Given the description of an element on the screen output the (x, y) to click on. 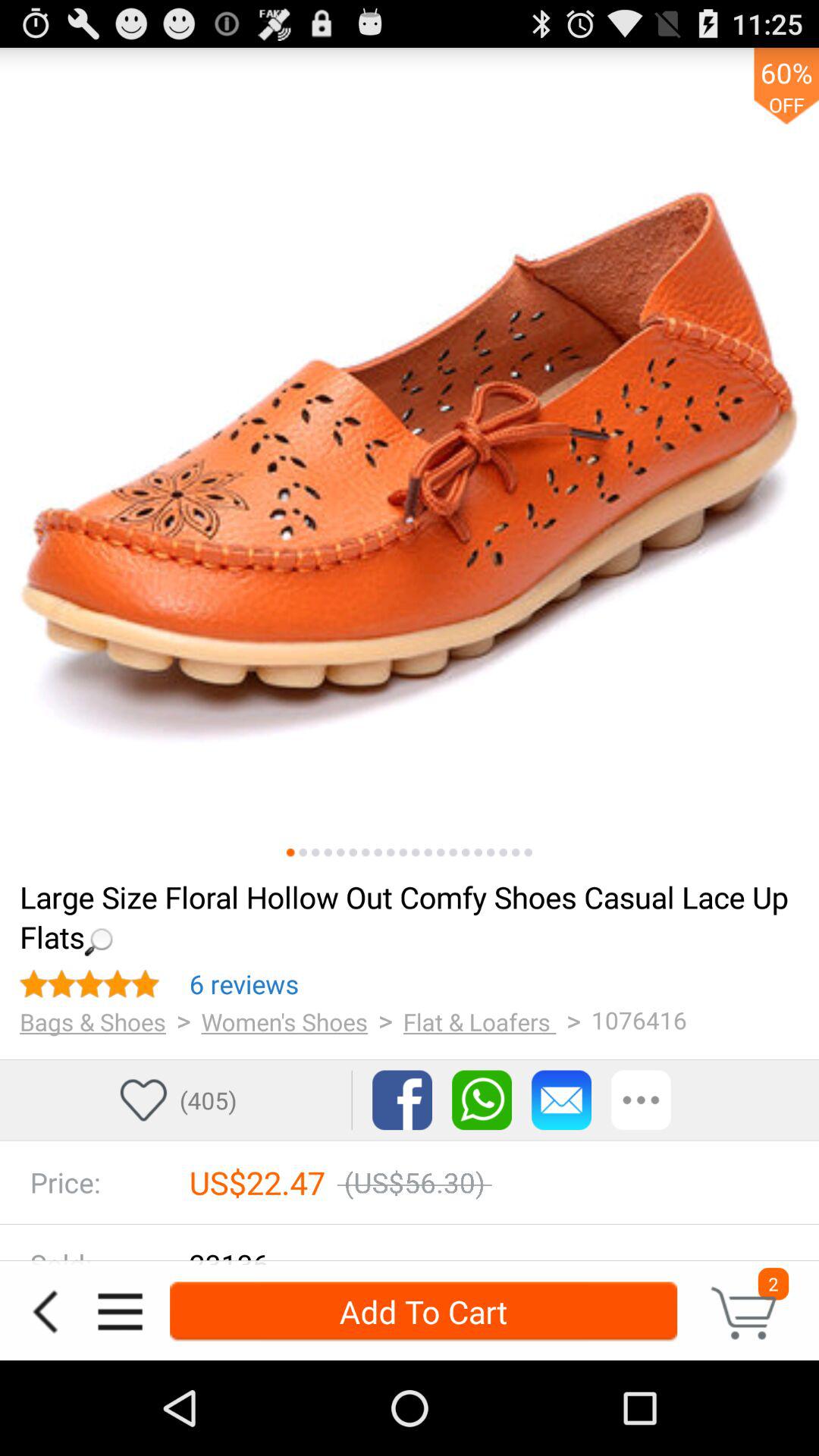
view other sharing options (641, 1100)
